Given the description of an element on the screen output the (x, y) to click on. 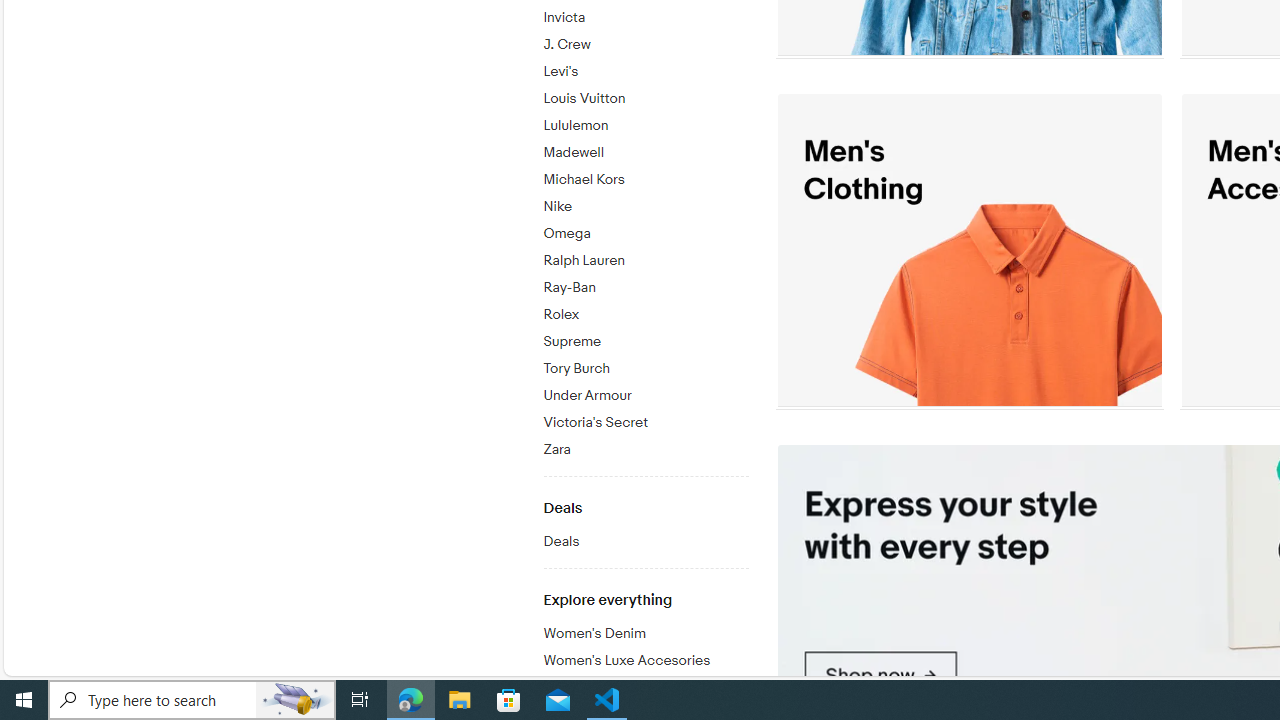
Tory Burch (645, 365)
Rolex (645, 315)
Supreme (645, 342)
Deals (645, 542)
Supreme (645, 338)
Deals (645, 538)
Madewell (645, 153)
J. Crew (645, 41)
Madewell (645, 149)
Women's Denim (645, 633)
Tory Burch (645, 369)
Michael Kors (645, 180)
Ray-Ban (645, 284)
Curvy Women's Style (645, 684)
